Given the description of an element on the screen output the (x, y) to click on. 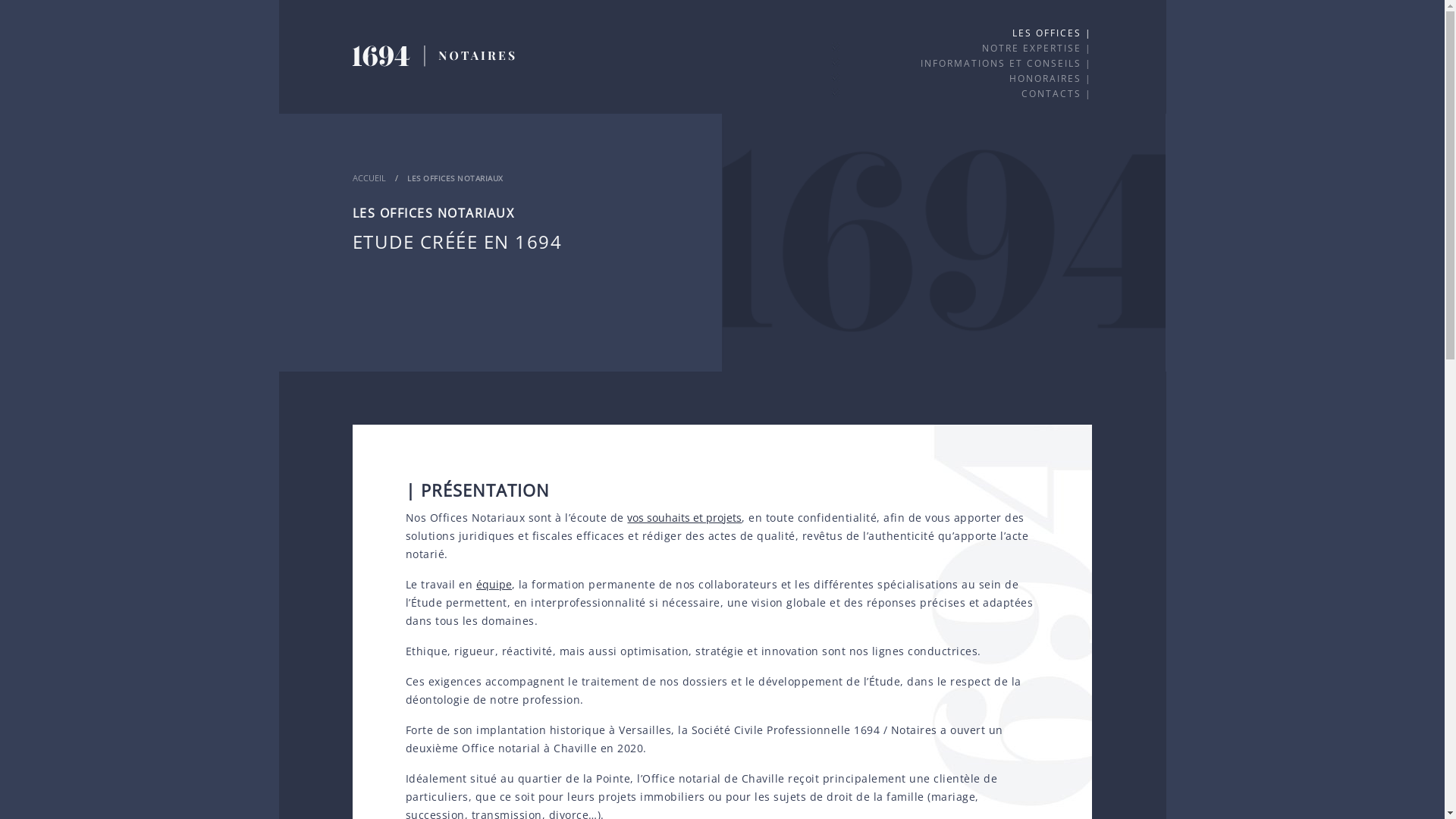
INFORMATIONS ET CONSEILS | Element type: text (1006, 62)
LES OFFICES | Element type: text (1052, 32)
NOTRE EXPERTISE | Element type: text (1037, 47)
CONTACTS | Element type: text (1056, 93)
vos souhaits et projets Element type: text (684, 517)
HONORAIRES | Element type: text (1050, 78)
ACCUEIL Element type: text (368, 147)
